Given the description of an element on the screen output the (x, y) to click on. 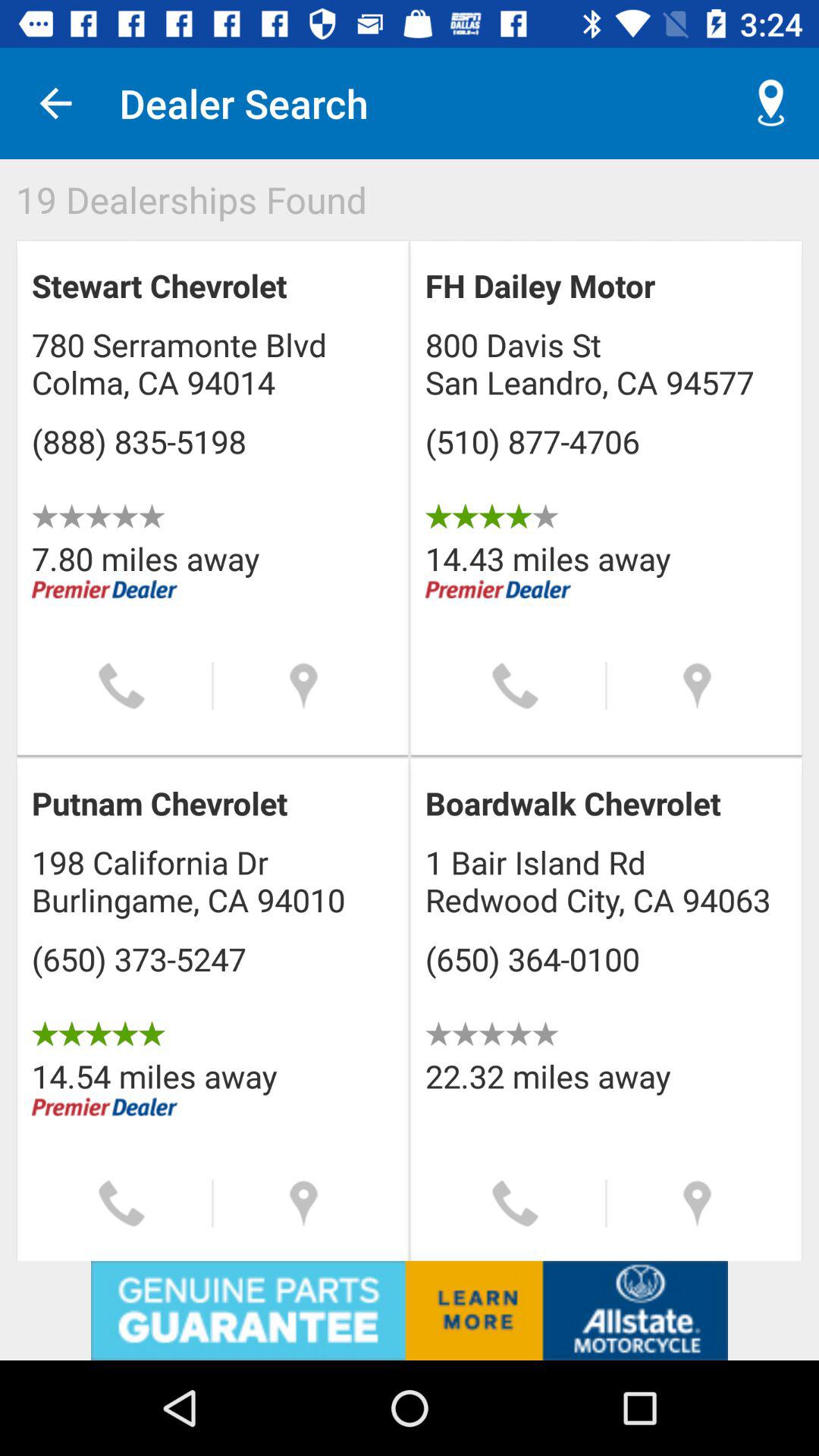
open maps for location (697, 685)
